Given the description of an element on the screen output the (x, y) to click on. 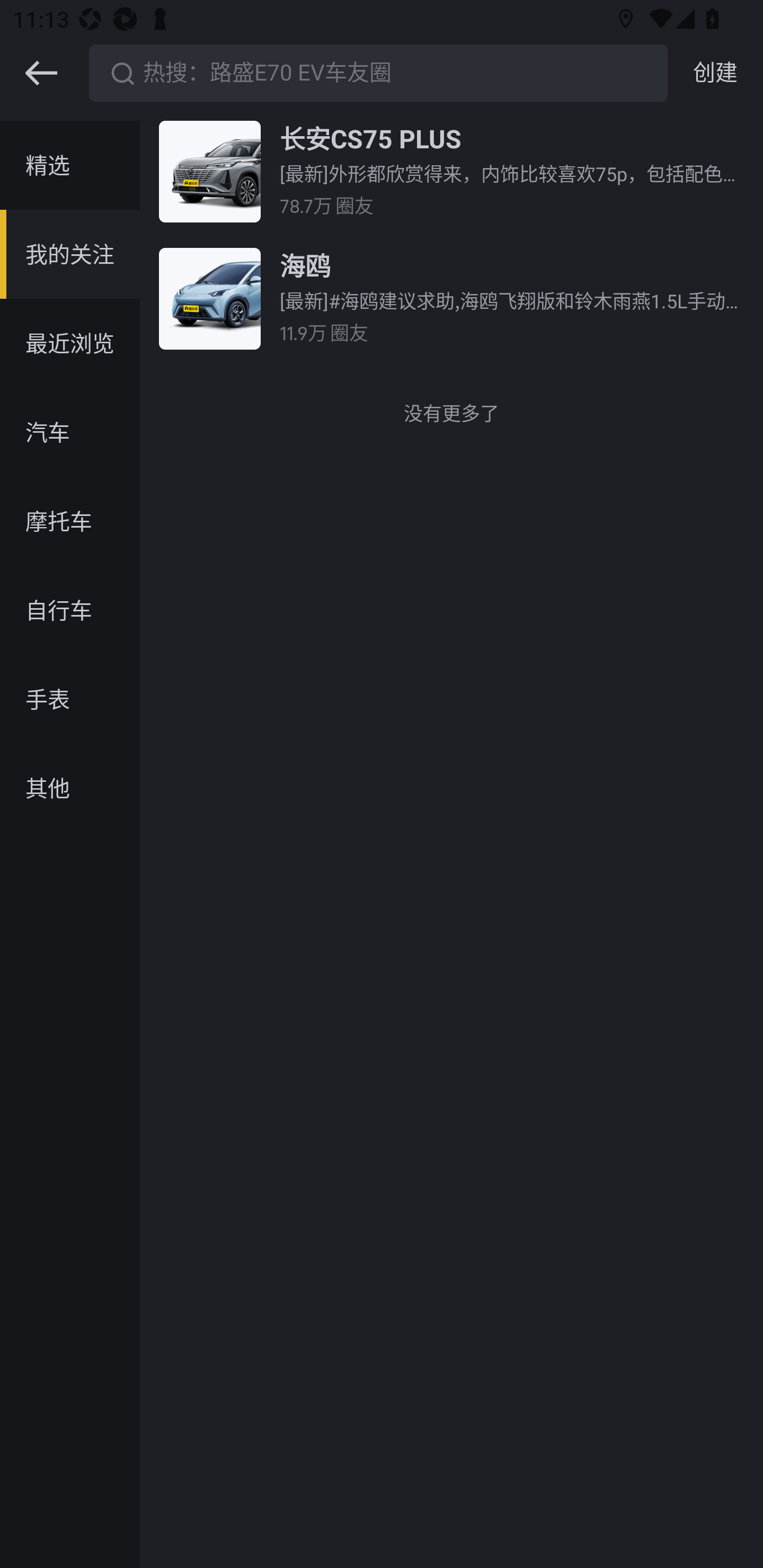
热搜：路盛E70 EV车友圈 (378, 72)
创建 (714, 72)
精选 (69, 165)
我的关注 (69, 254)
最近浏览 (69, 343)
汽车 (69, 431)
摩托车 (69, 521)
自行车 (69, 610)
手表 (69, 699)
其他 (69, 787)
